Given the description of an element on the screen output the (x, y) to click on. 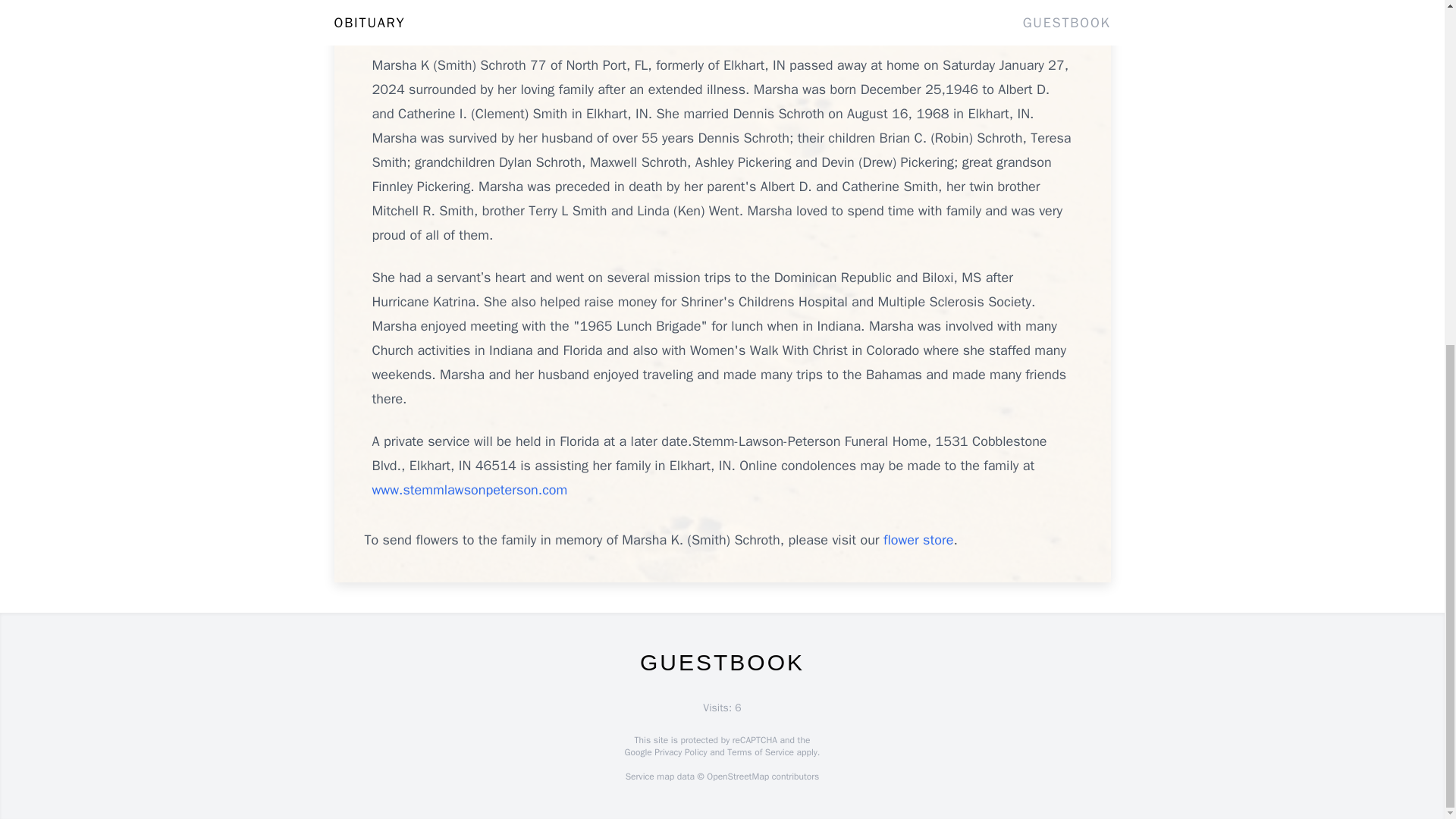
flower store (918, 539)
OpenStreetMap (737, 776)
Privacy Policy (679, 752)
Terms of Service (759, 752)
www.stemmlawsonpeterson.com (469, 489)
